Given the description of an element on the screen output the (x, y) to click on. 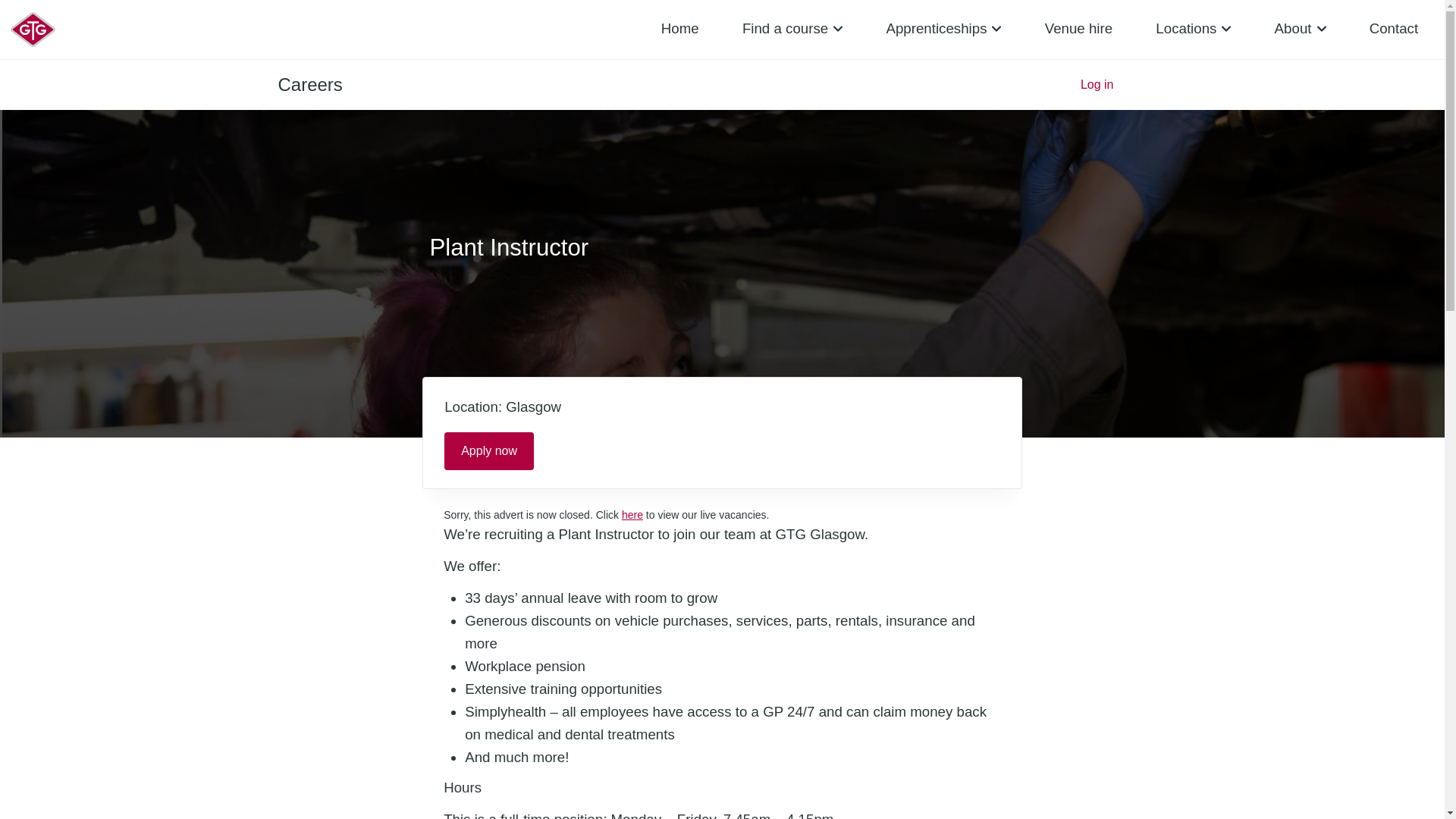
Log in (1096, 84)
here (632, 514)
Log in (1096, 84)
Venue hire (1078, 28)
Apprenticeships (943, 28)
About (1300, 28)
Apply now (489, 451)
Locations (1193, 28)
Home (679, 28)
Careers (310, 85)
Find a course (792, 28)
Contact (1394, 28)
GTG Careers (310, 85)
